Given the description of an element on the screen output the (x, y) to click on. 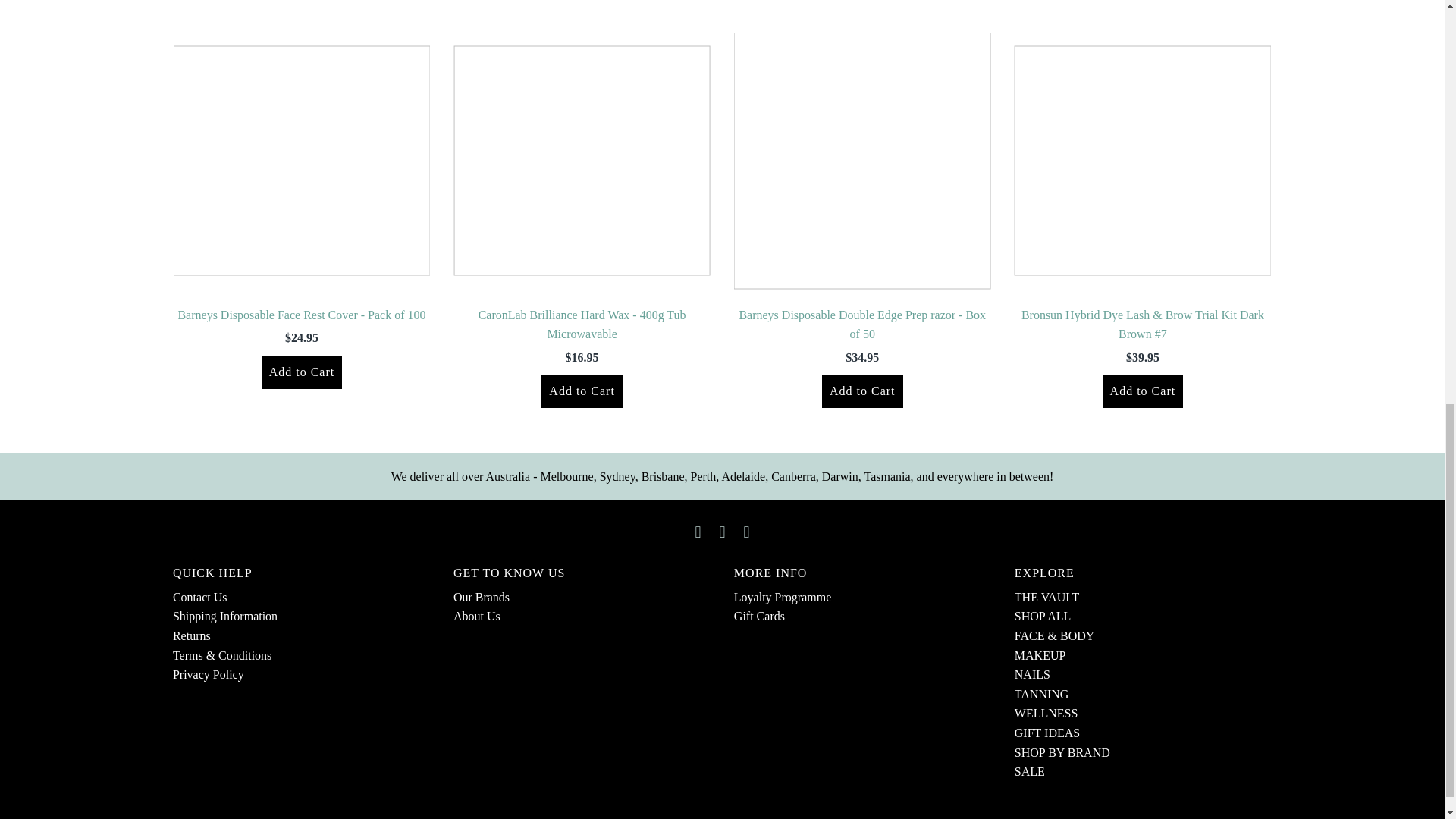
Add to Cart (1142, 390)
Add to Cart (302, 372)
Add to Cart (862, 390)
Add to Cart (582, 390)
